Given the description of an element on the screen output the (x, y) to click on. 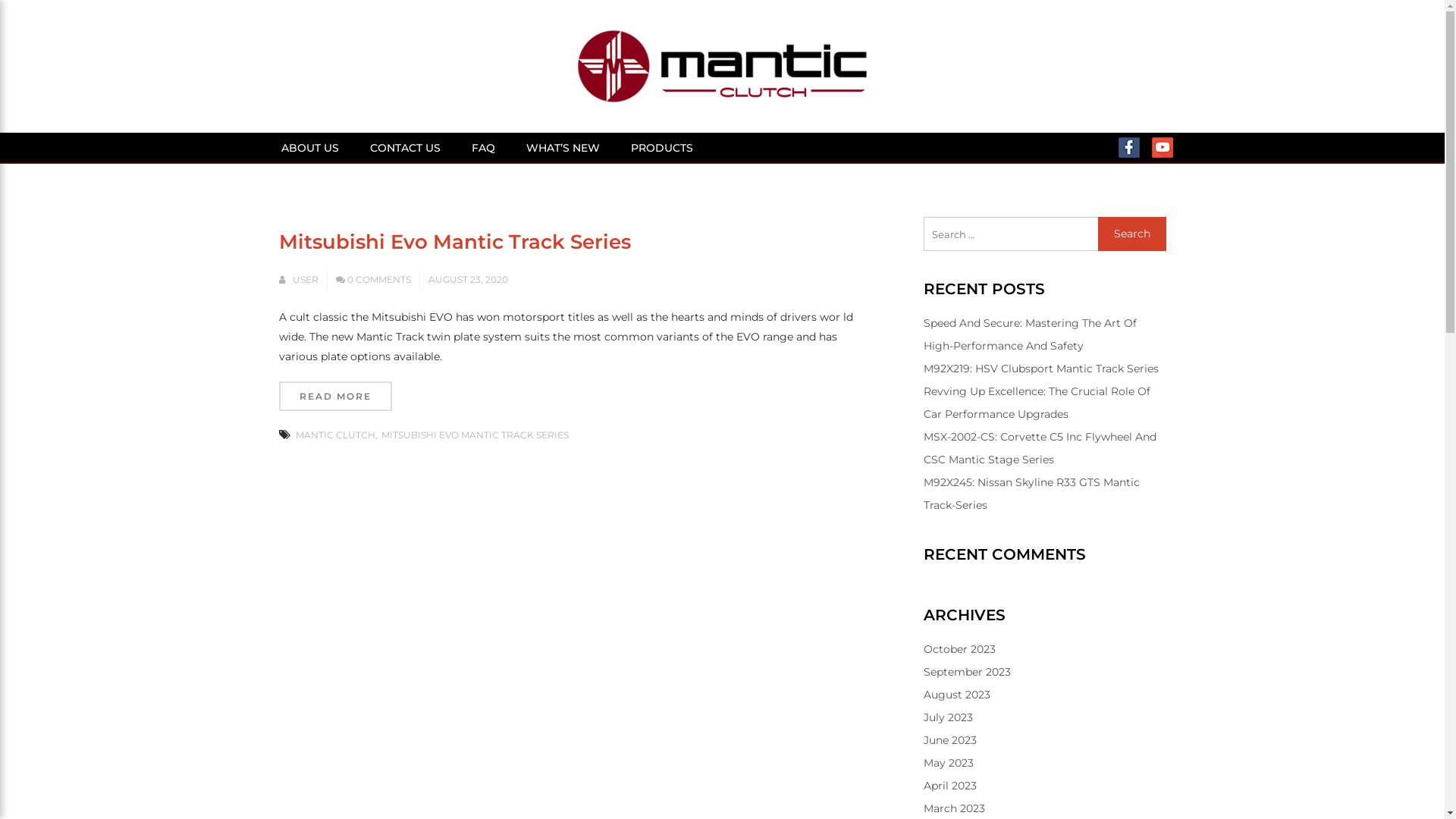
July 2023 Element type: text (947, 717)
Search Element type: text (1132, 233)
CONTACT US Element type: text (405, 147)
READ MORE Element type: text (335, 396)
October 2023 Element type: text (959, 648)
June 2023 Element type: text (949, 739)
Mitsubishi Evo Mantic Track Series Element type: text (454, 241)
USER Element type: text (305, 279)
ABOUT US Element type: text (309, 147)
FAQ Element type: text (483, 147)
0 COMMENTS Element type: text (373, 279)
May 2023 Element type: text (948, 762)
August 2023 Element type: text (956, 694)
M92X245: Nissan Skyline R33 GTS Mantic Track-Series Element type: text (1031, 493)
MITSUBISHI EVO MANTIC TRACK SERIES Element type: text (473, 434)
M92X219: HSV Clubsport Mantic Track Series Element type: text (1040, 368)
PRODUCTS Element type: text (662, 147)
September 2023 Element type: text (966, 671)
March 2023 Element type: text (954, 808)
MANTIC CLUTCH Element type: text (336, 434)
April 2023 Element type: text (949, 785)
